Given the description of an element on the screen output the (x, y) to click on. 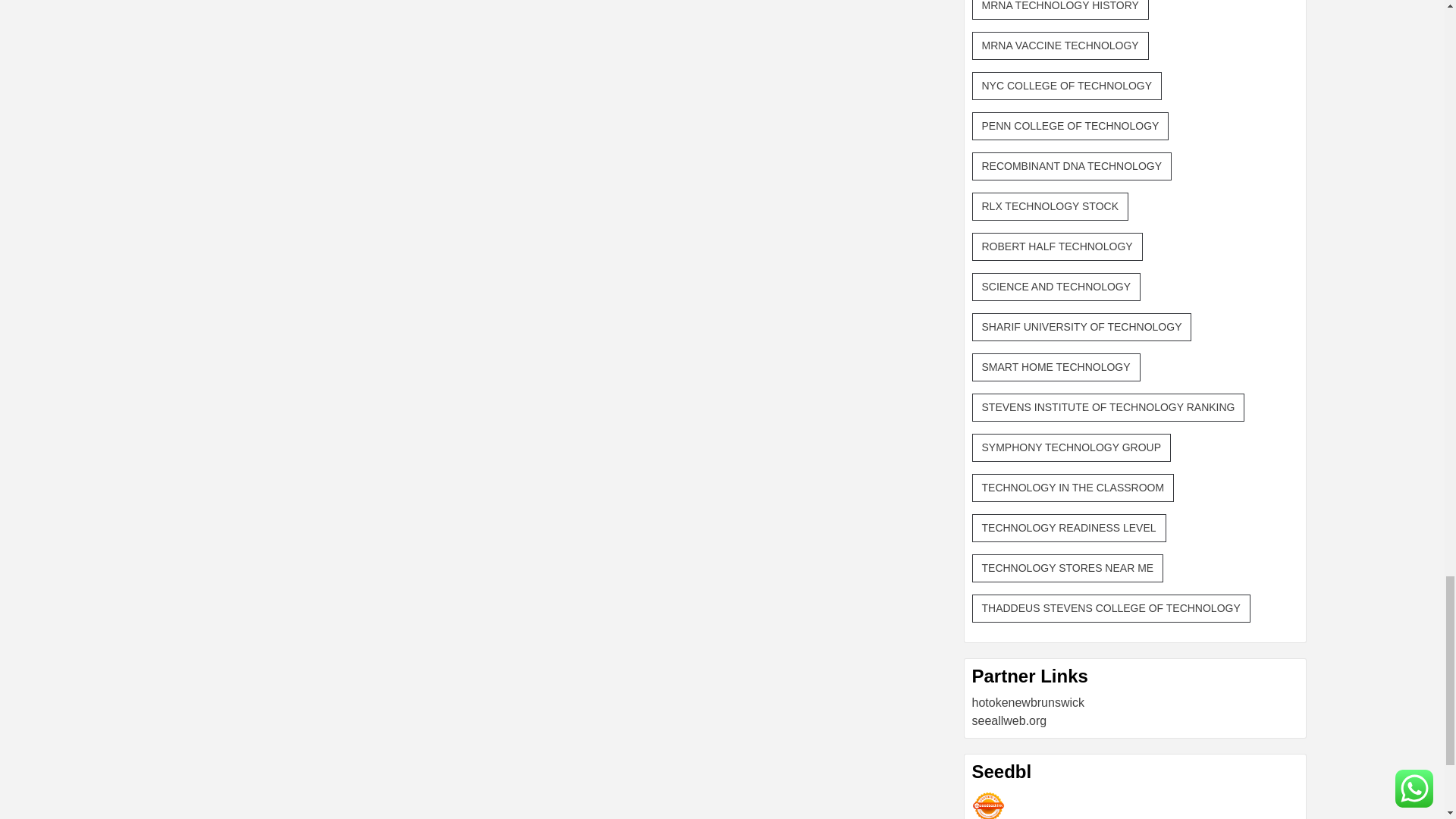
Seedbacklink (988, 804)
